Given the description of an element on the screen output the (x, y) to click on. 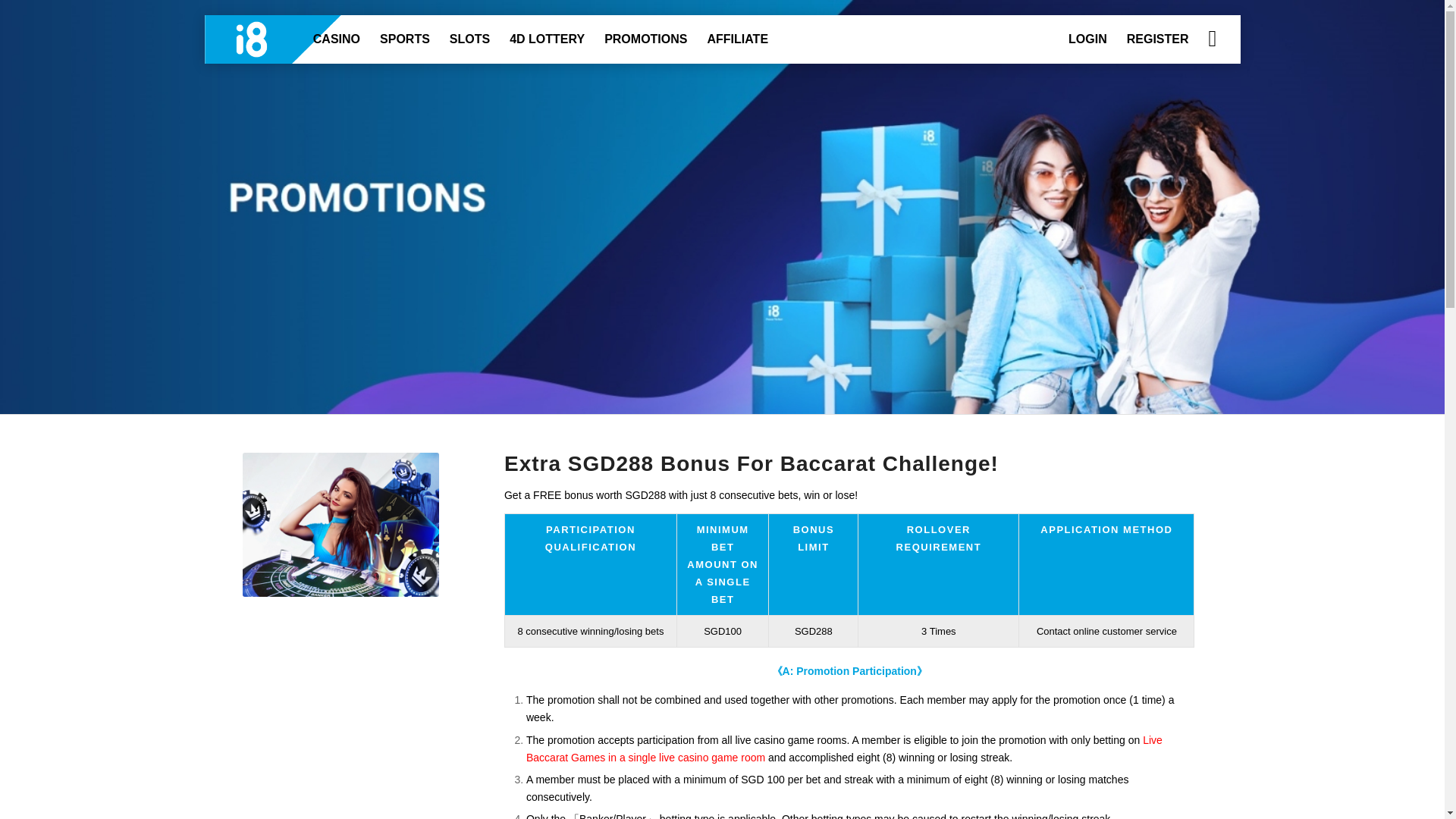
SLOTS (469, 39)
CASINO (335, 39)
i8 Header Logo (283, 39)
AFFILIATE (737, 39)
REGISTER (1157, 39)
SPORTS (404, 39)
PROMOTIONS (645, 39)
LOGIN (1087, 39)
4D LOTTERY (546, 39)
